Given the description of an element on the screen output the (x, y) to click on. 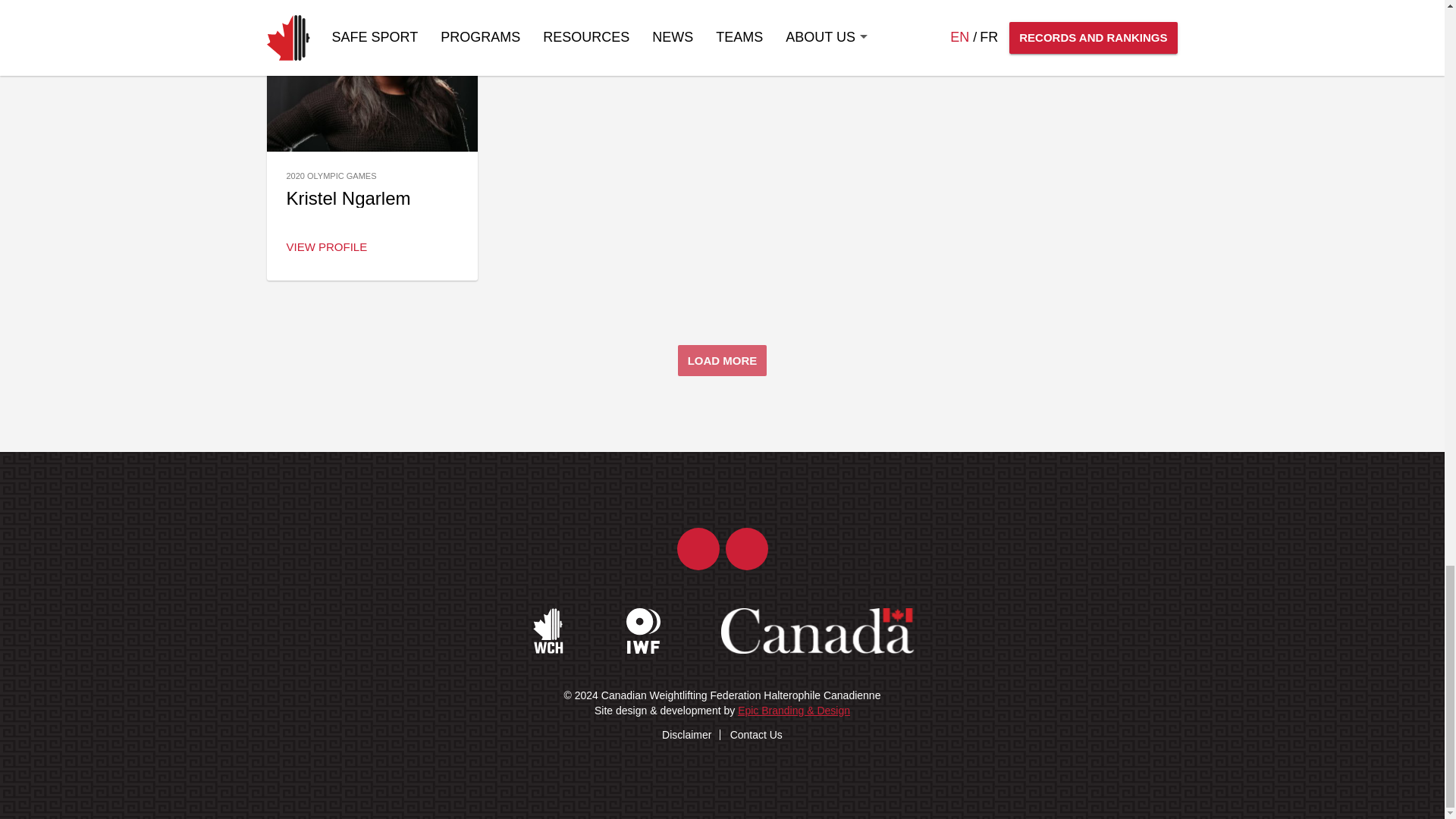
LOAD MORE (722, 359)
Kristel Ngarlem (347, 198)
VIEW PROFILE (325, 246)
